Given the description of an element on the screen output the (x, y) to click on. 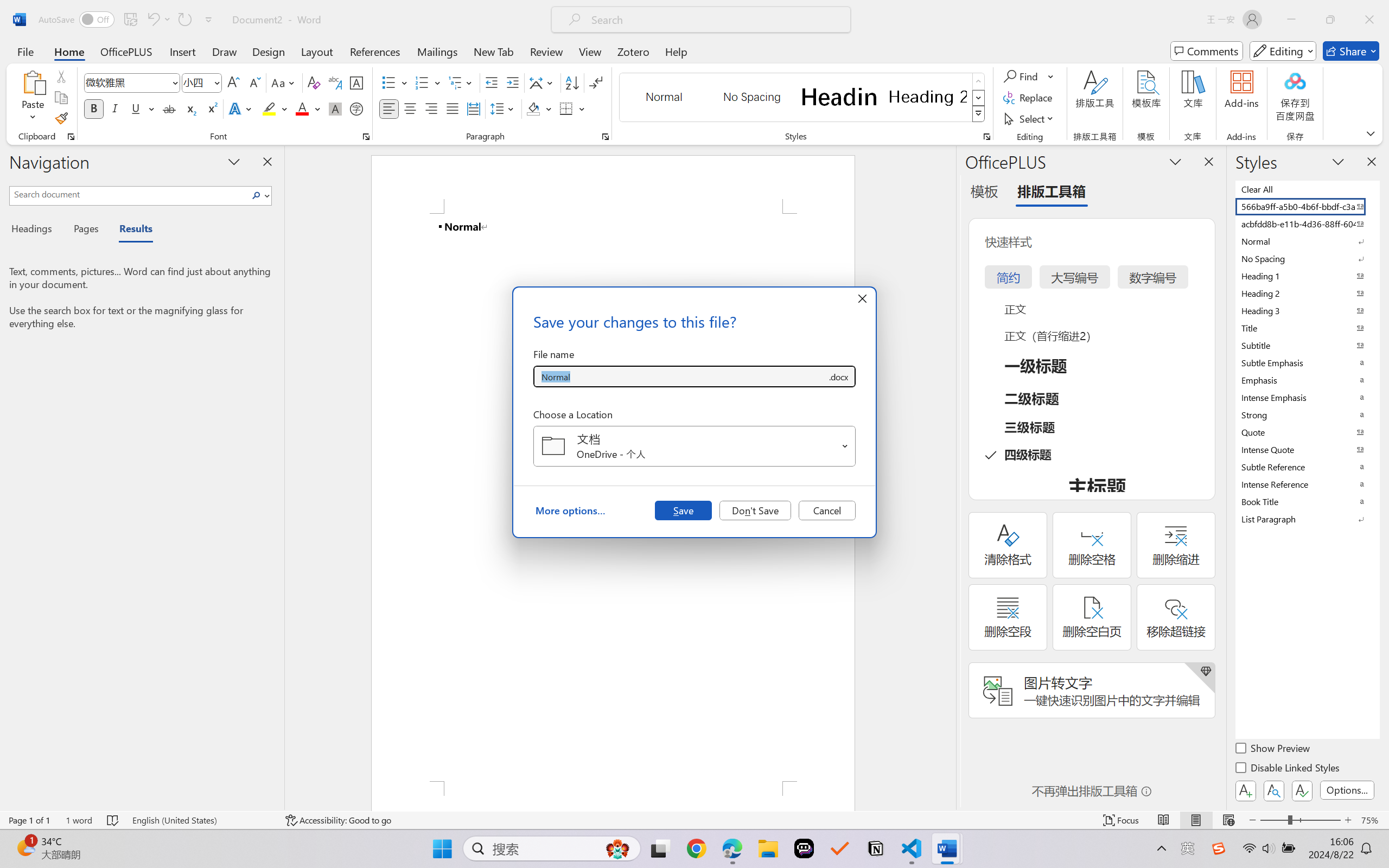
Shading (539, 108)
Distributed (473, 108)
Font Size (196, 82)
Share (1350, 51)
Copy (60, 97)
Home (69, 51)
Book Title (1306, 501)
Subtitle (1306, 345)
Cut (60, 75)
Normal (1306, 240)
